Given the description of an element on the screen output the (x, y) to click on. 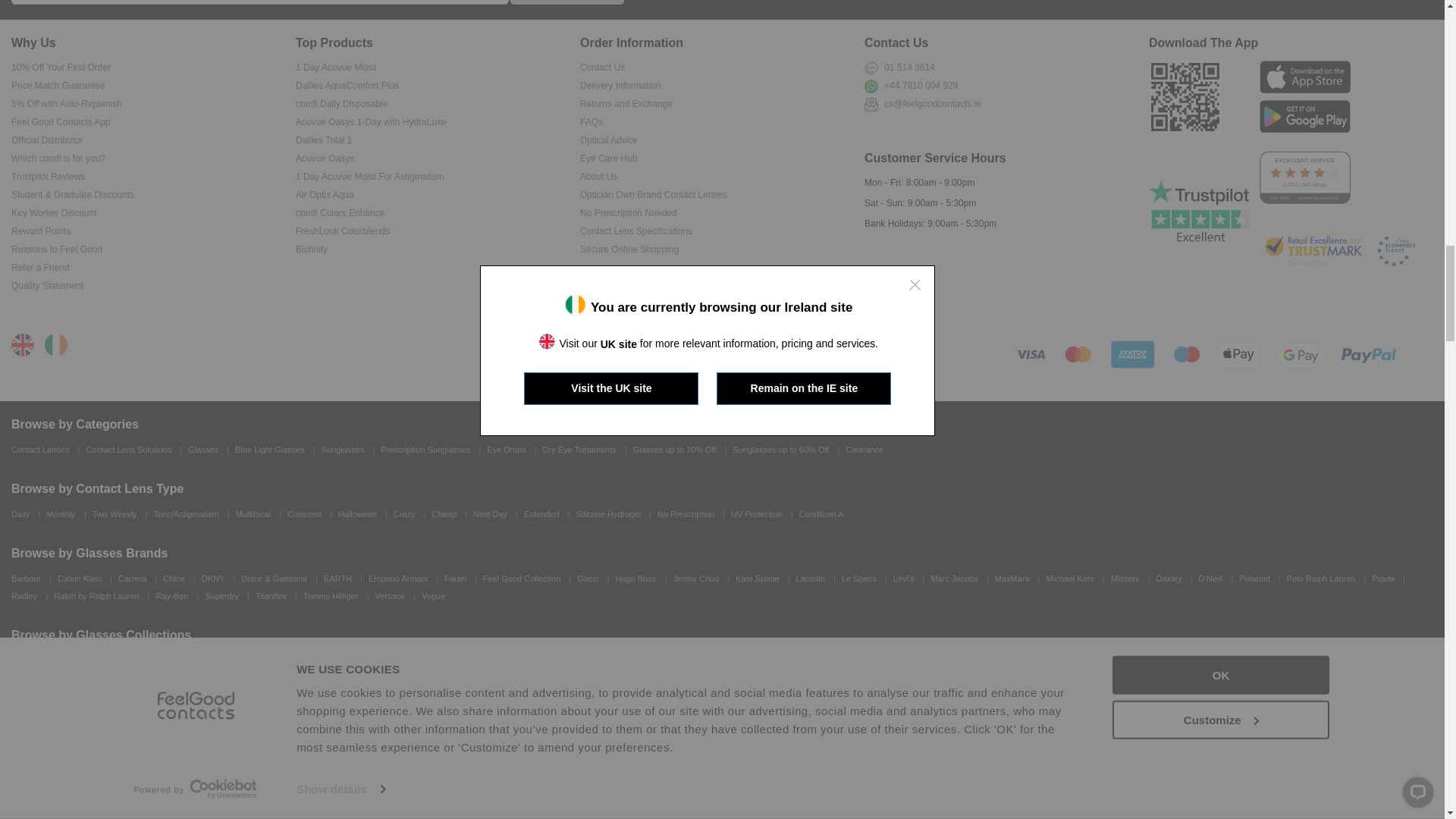
Subscribe (567, 2)
